Given the description of an element on the screen output the (x, y) to click on. 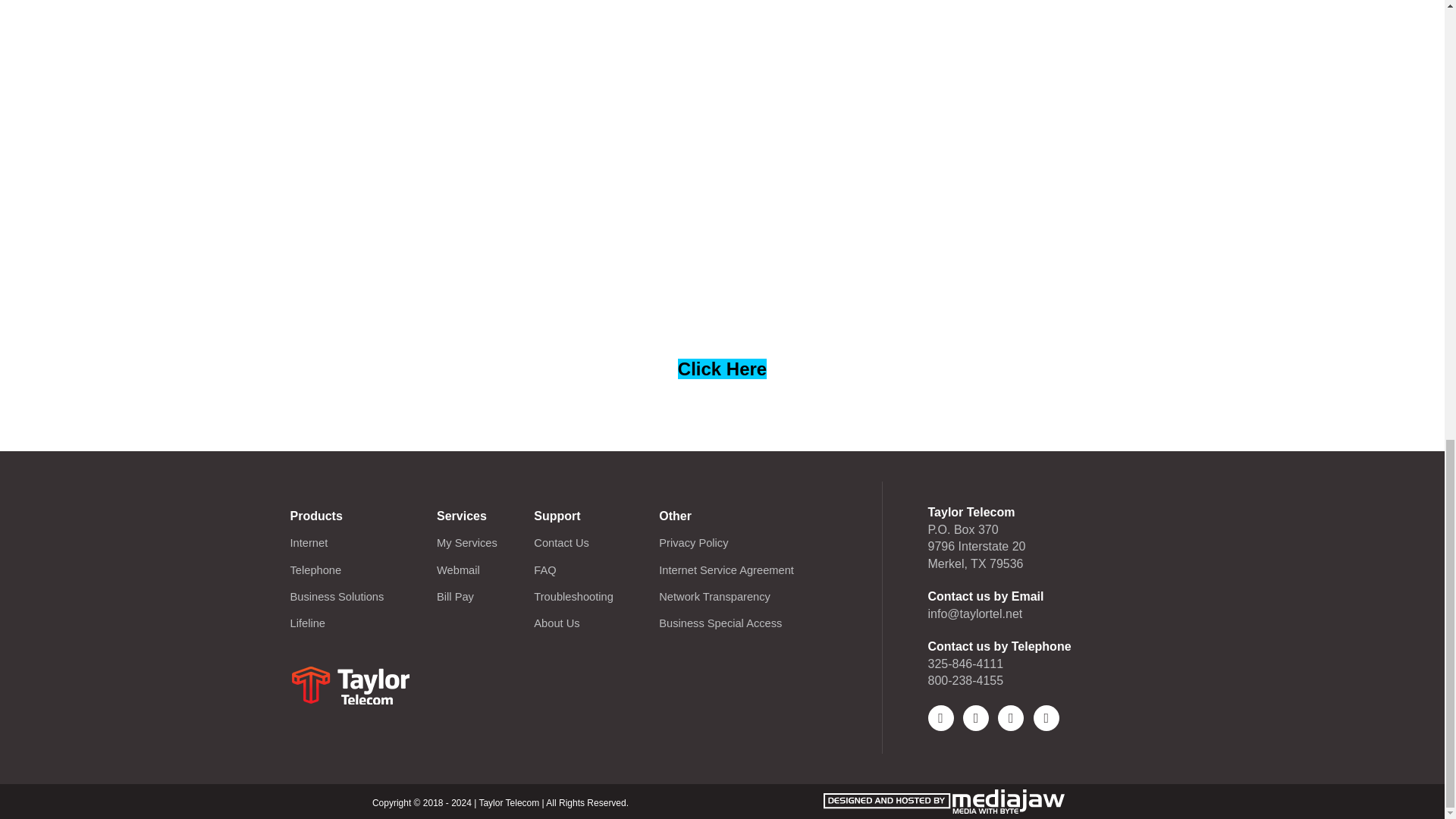
Internet (308, 542)
Lifeline (306, 623)
Telephone (314, 570)
Business Solutions (336, 596)
Bill Pay (455, 596)
Webmail (458, 570)
Click Here (722, 368)
My Services (466, 542)
